Given the description of an element on the screen output the (x, y) to click on. 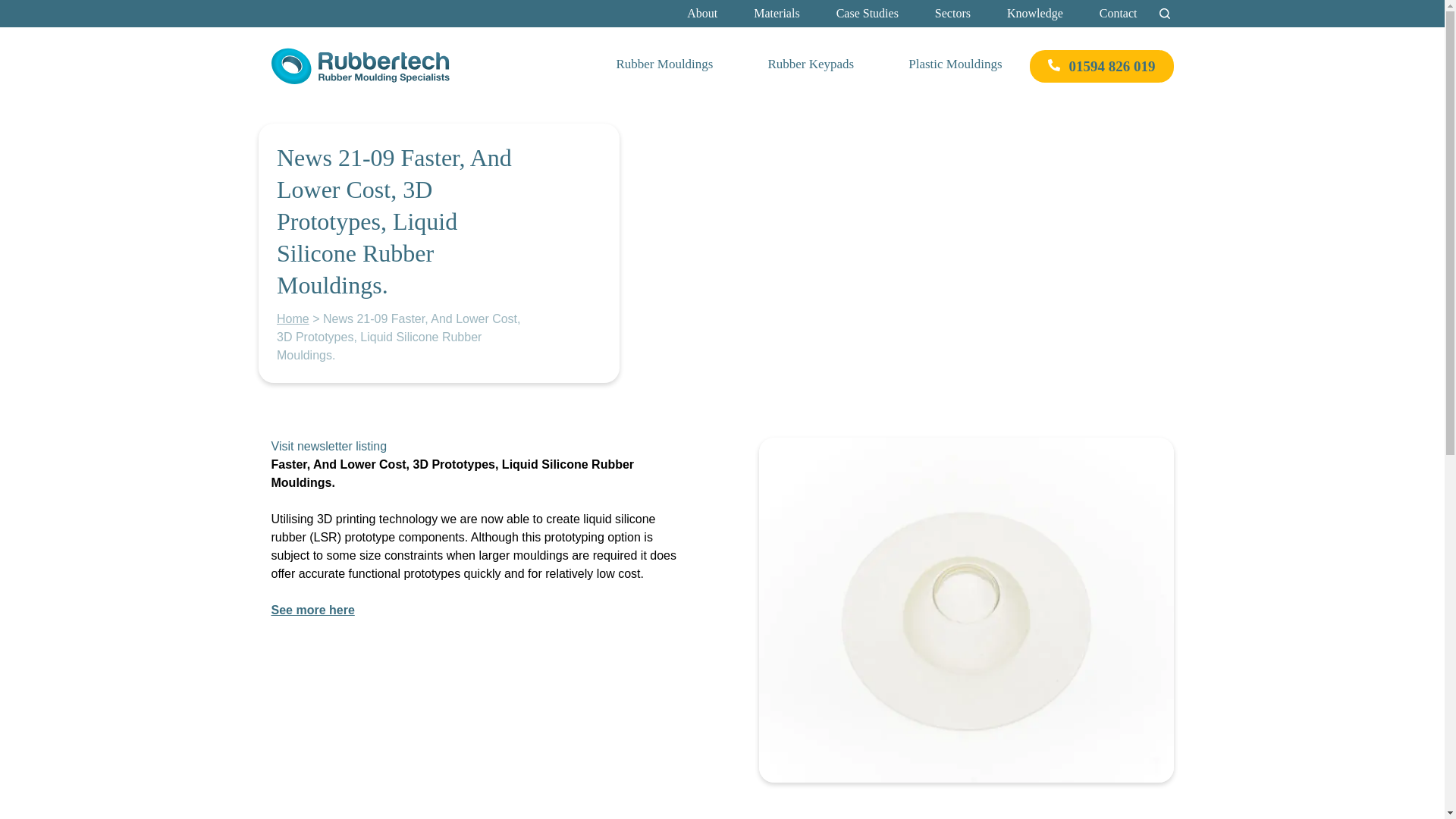
Visit newsletter listing (328, 445)
Contact (1118, 13)
Knowledge (1034, 13)
About (702, 13)
Materials (776, 13)
Plastic Mouldings (954, 65)
See more here (312, 609)
Sectors (952, 13)
Case Studies (866, 13)
01594 826 019 (1101, 65)
Rubber Keypads (810, 65)
Home (292, 318)
Rubber Mouldings (664, 65)
Rubbertech (302, 92)
